Given the description of an element on the screen output the (x, y) to click on. 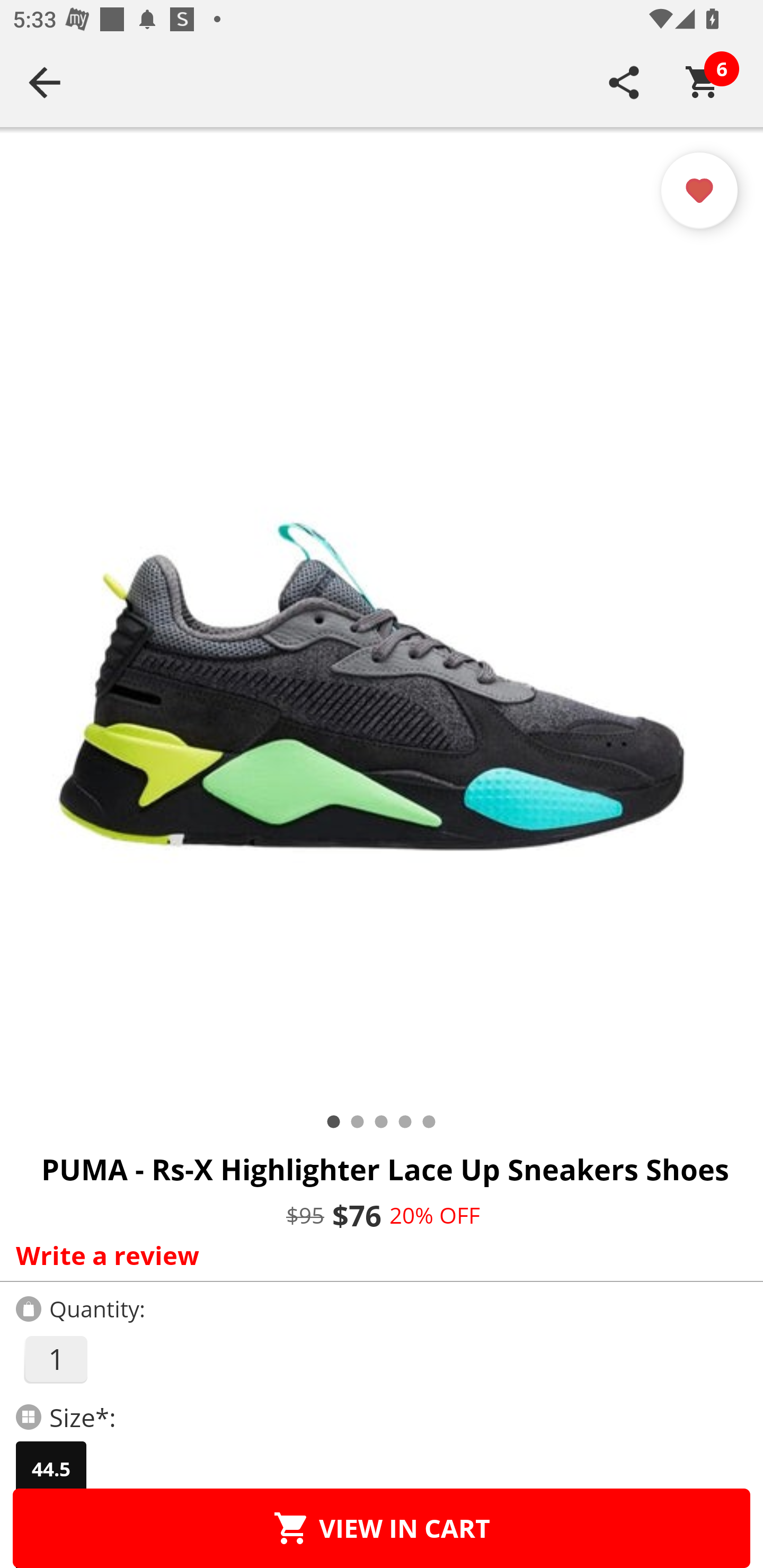
Navigate up (44, 82)
SHARE (623, 82)
Cart (703, 81)
Write a review (377, 1255)
1 (55, 1358)
44.5 (51, 1468)
VIEW IN CART (381, 1528)
